Given the description of an element on the screen output the (x, y) to click on. 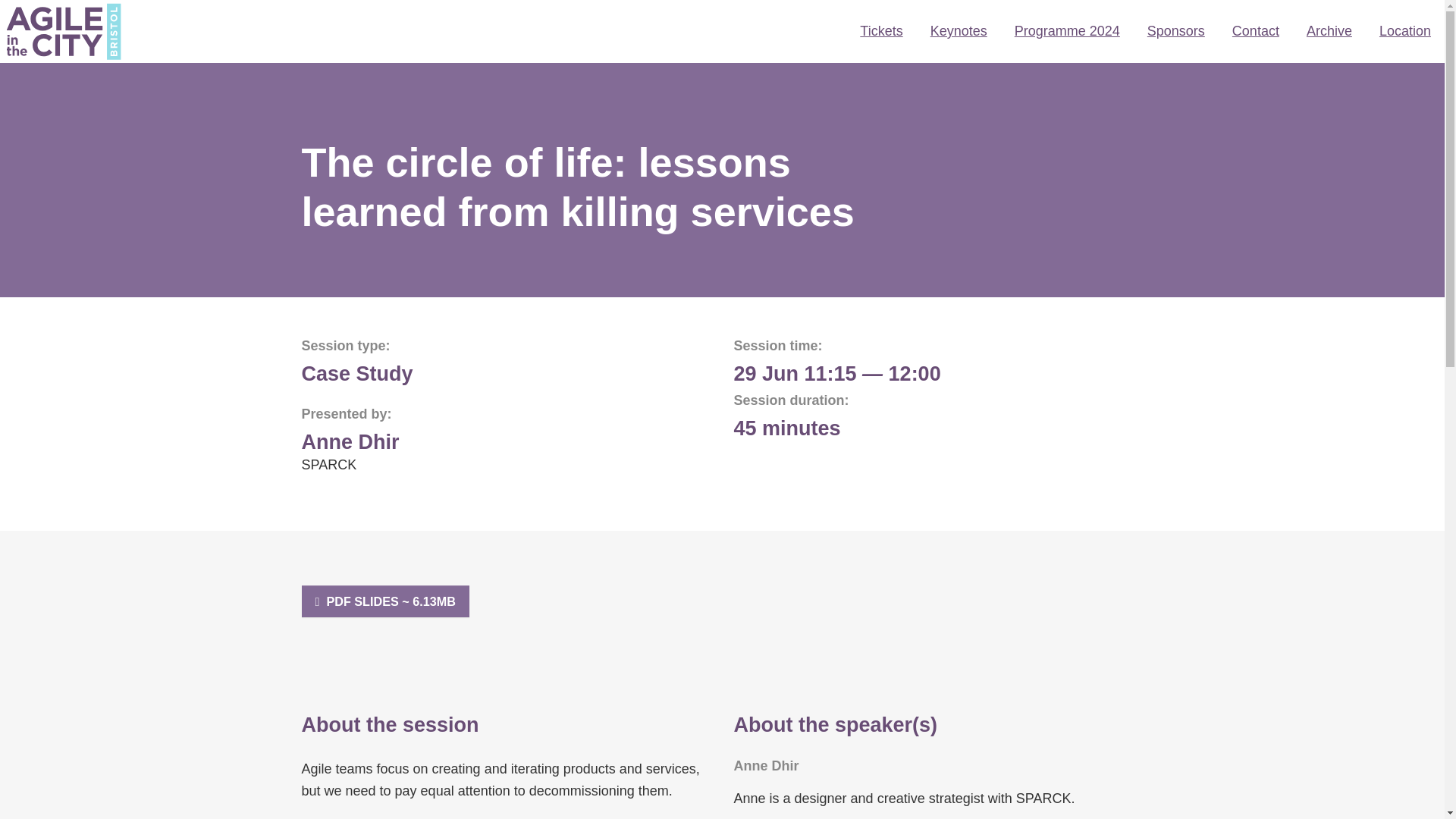
Archive (1328, 31)
Sponsors (1176, 31)
Contact (1255, 31)
Programme 2024 (1067, 31)
Keynotes (959, 31)
Tickets (880, 31)
